Given the description of an element on the screen output the (x, y) to click on. 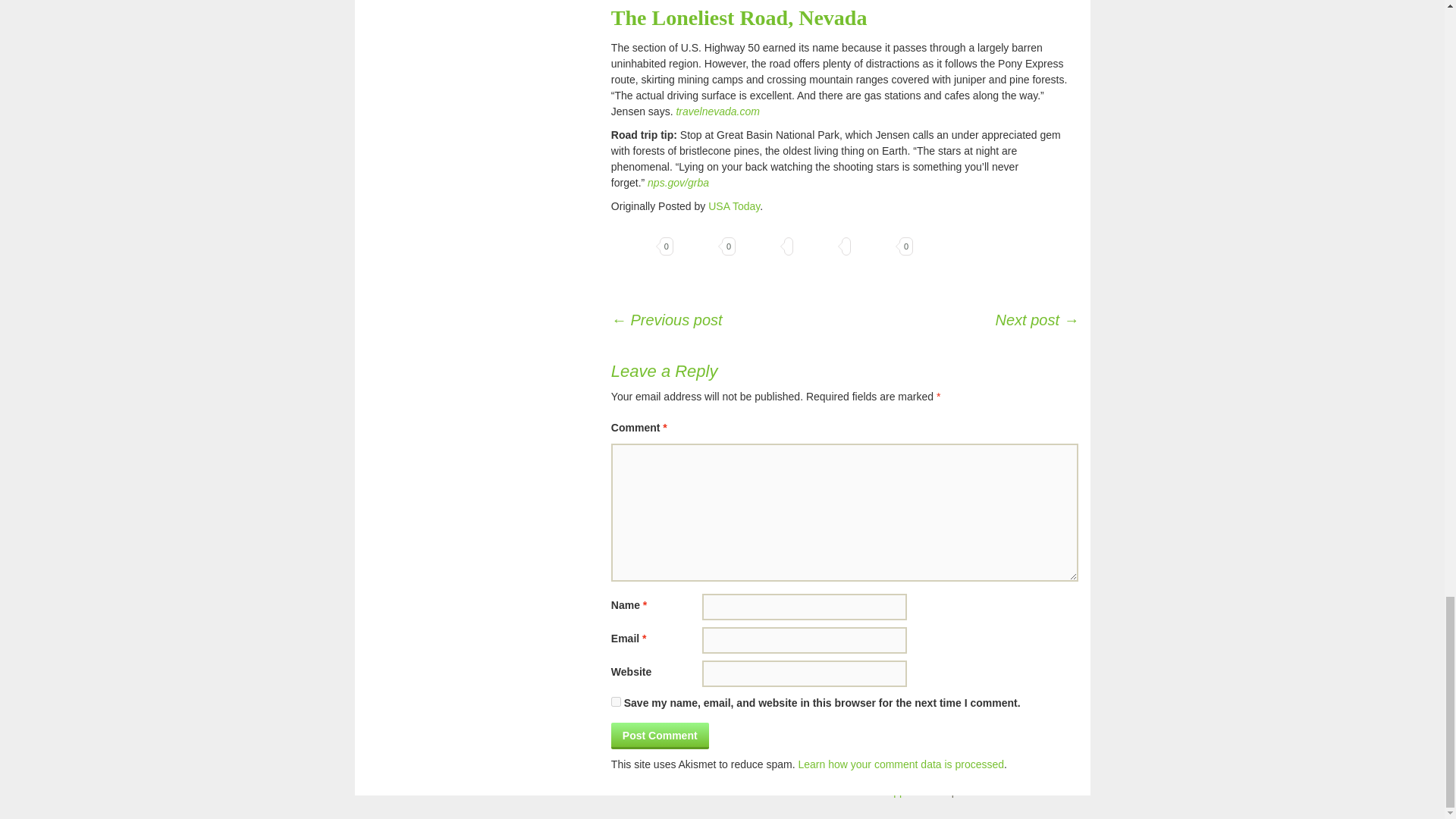
stumbleupon (874, 246)
Post Comment (660, 735)
pinterest (697, 246)
yes (616, 701)
facebook (635, 246)
twitter (759, 246)
google (817, 246)
